Given the description of an element on the screen output the (x, y) to click on. 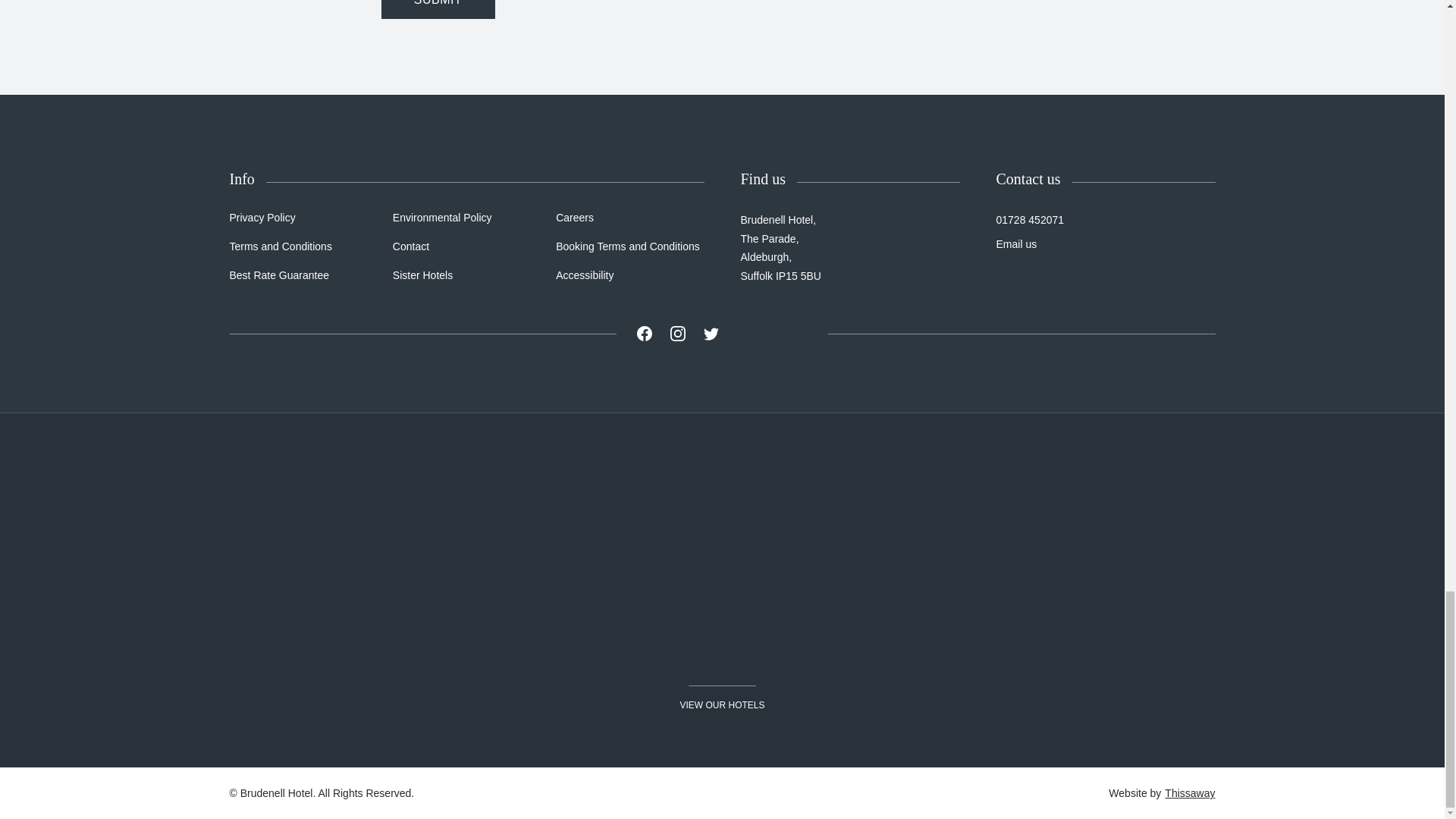
SUBMIT (437, 9)
Booking Terms and Conditions (628, 246)
Privacy Policy (261, 217)
Careers (575, 217)
Sister Hotels (422, 275)
Contact (411, 246)
01728 452071 (1029, 219)
Accessibility (584, 275)
Terms and Conditions (279, 246)
Environmental Policy (442, 217)
